Given the description of an element on the screen output the (x, y) to click on. 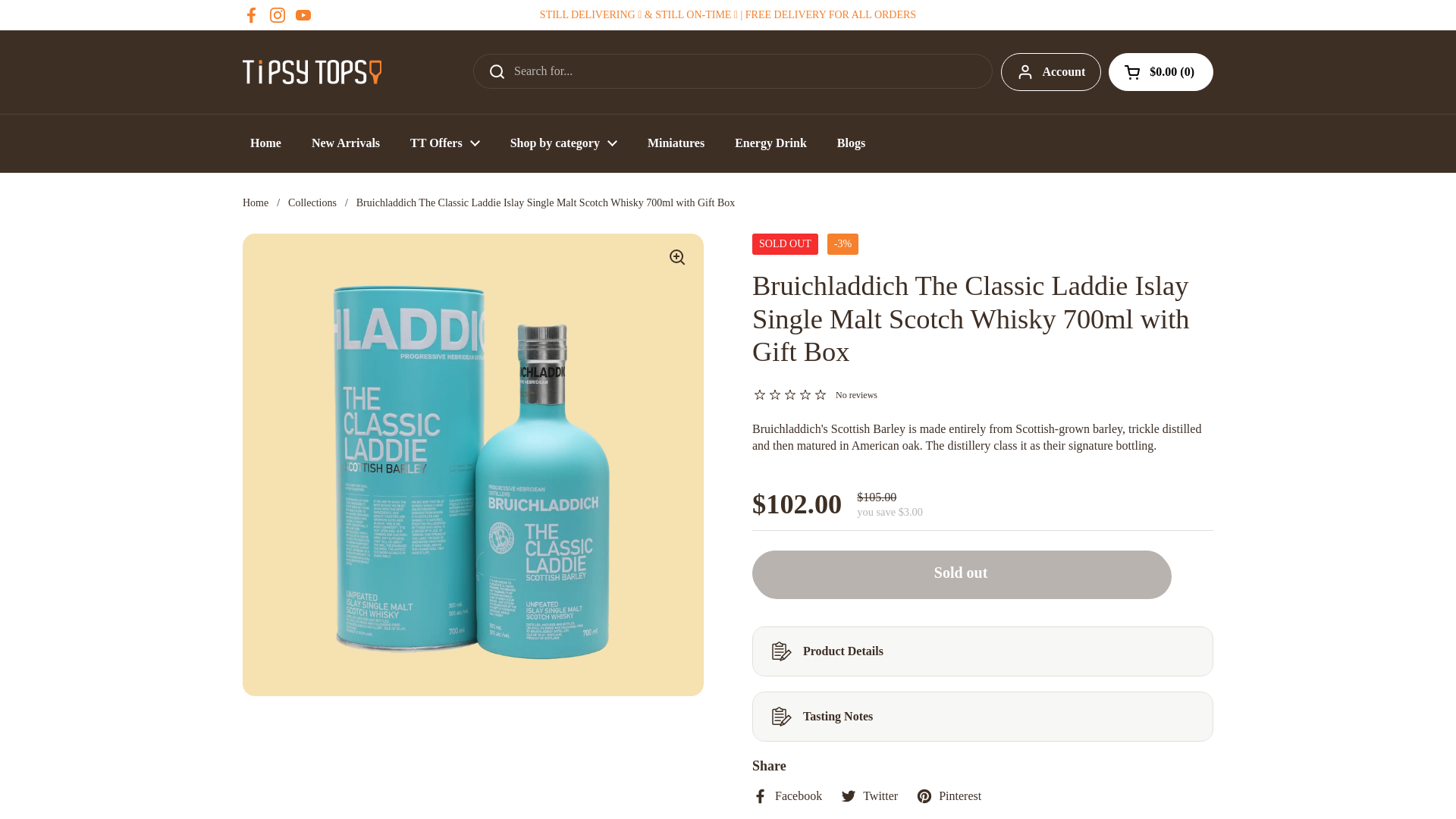
Shop by category (563, 143)
Share on pinterest (948, 795)
New Arrivals (345, 143)
Instagram (276, 14)
TipsyTopsy (312, 71)
Facebook (251, 14)
Share on facebook (787, 795)
Miniatures (675, 143)
Account (1050, 71)
